Given the description of an element on the screen output the (x, y) to click on. 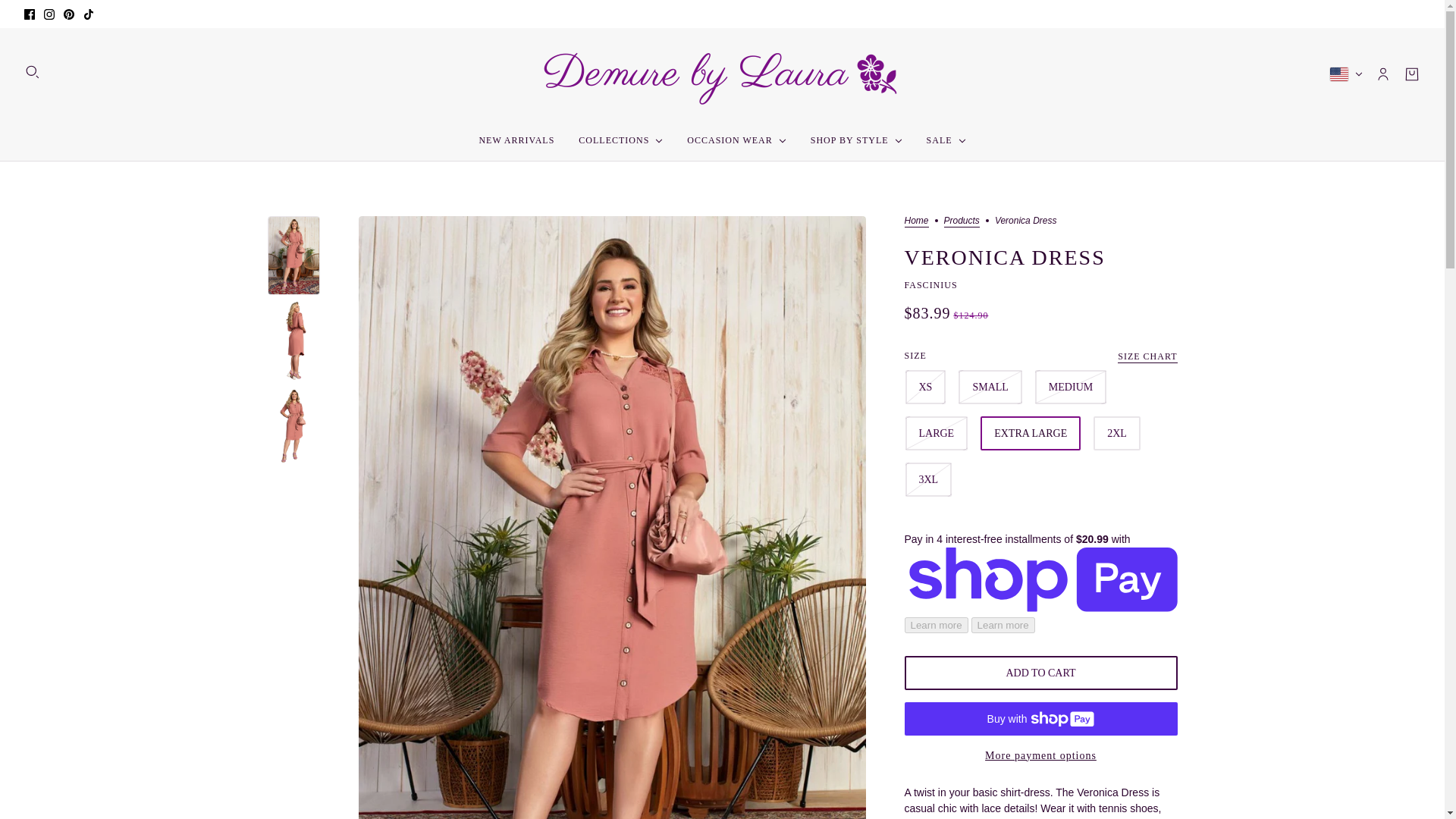
OCCASION WEAR (736, 140)
NEW ARRIVALS (515, 140)
Demure by Laura (722, 74)
Home (916, 221)
SHOP BY STYLE (855, 140)
COLLECTIONS (620, 140)
ADD TO CART (1040, 673)
More payment options (1040, 749)
Products (961, 221)
SALE (946, 140)
FASCINIUS (930, 285)
